Given the description of an element on the screen output the (x, y) to click on. 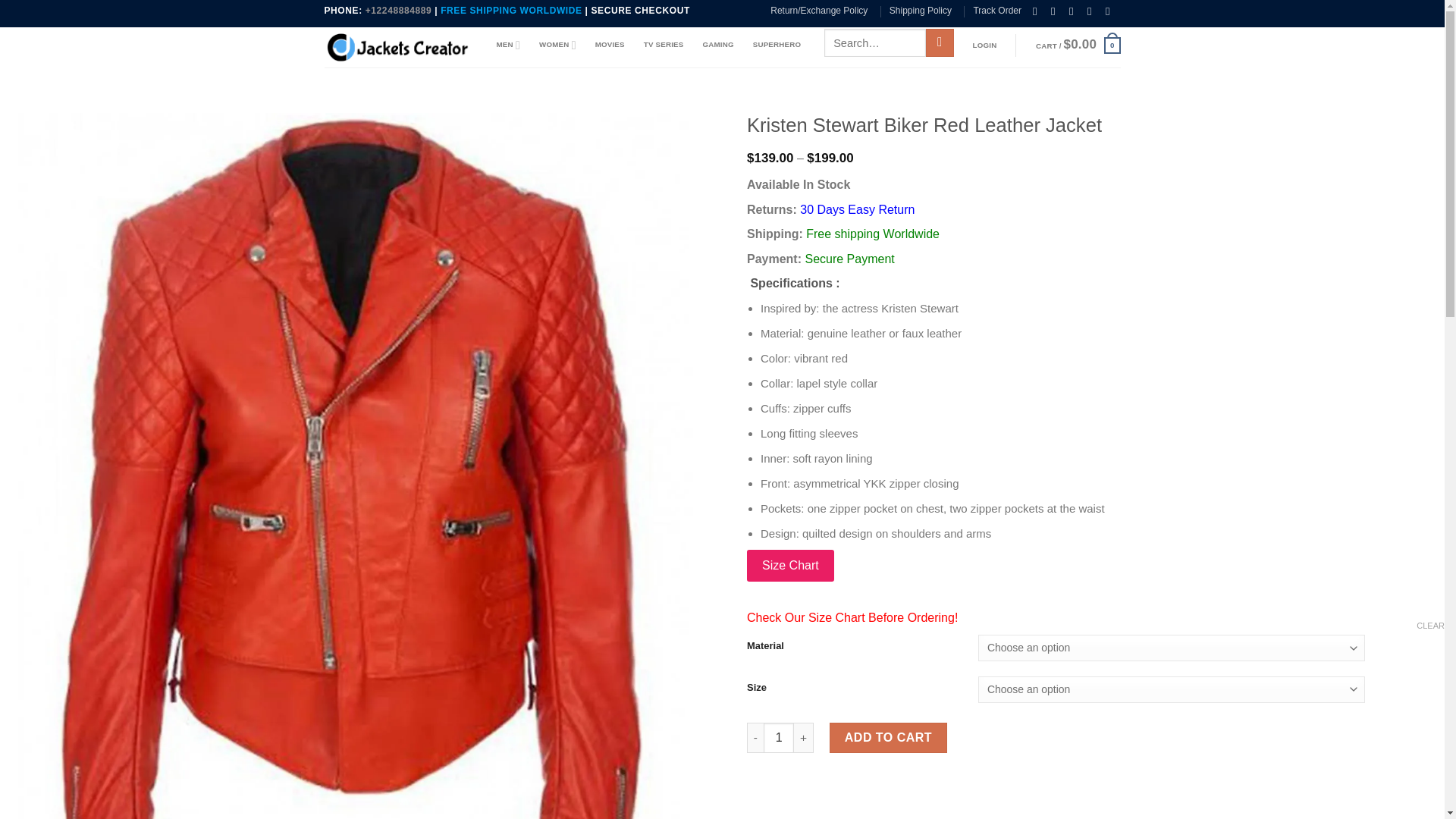
1 (777, 737)
GAMING (717, 44)
WOMEN (557, 44)
Jackets Creator (399, 47)
Shipping Policy (920, 11)
TV SERIES (663, 44)
Cart (1078, 45)
Track Order (997, 11)
